Given the description of an element on the screen output the (x, y) to click on. 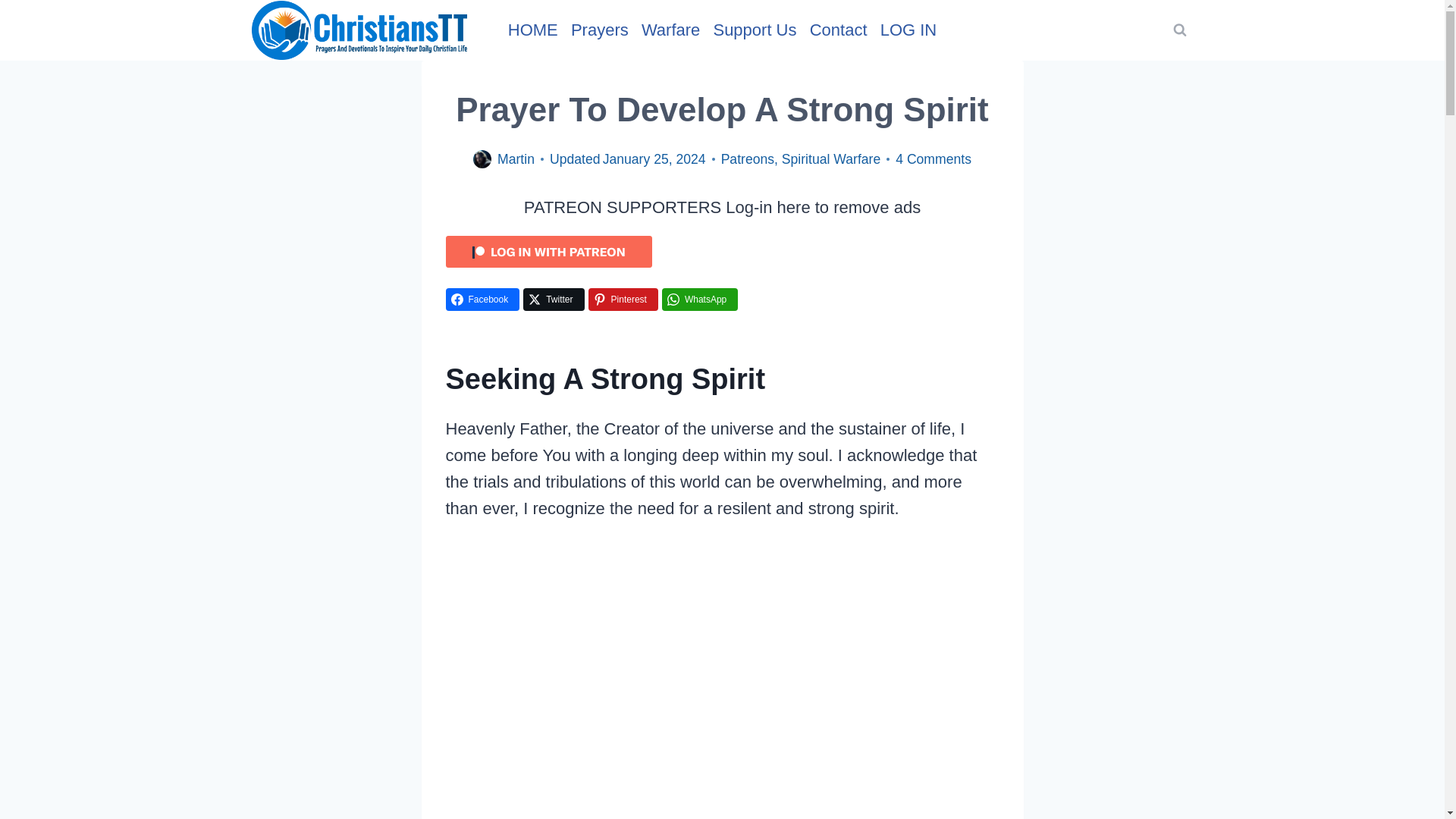
Share on Twitter (552, 299)
Contact (838, 29)
Share on Facebook (482, 299)
Facebook (482, 299)
Prayers (599, 29)
Pinterest (623, 299)
Share on Pinterest (623, 299)
LOG IN (908, 29)
4 Comments (933, 158)
Martin (515, 159)
